Given the description of an element on the screen output the (x, y) to click on. 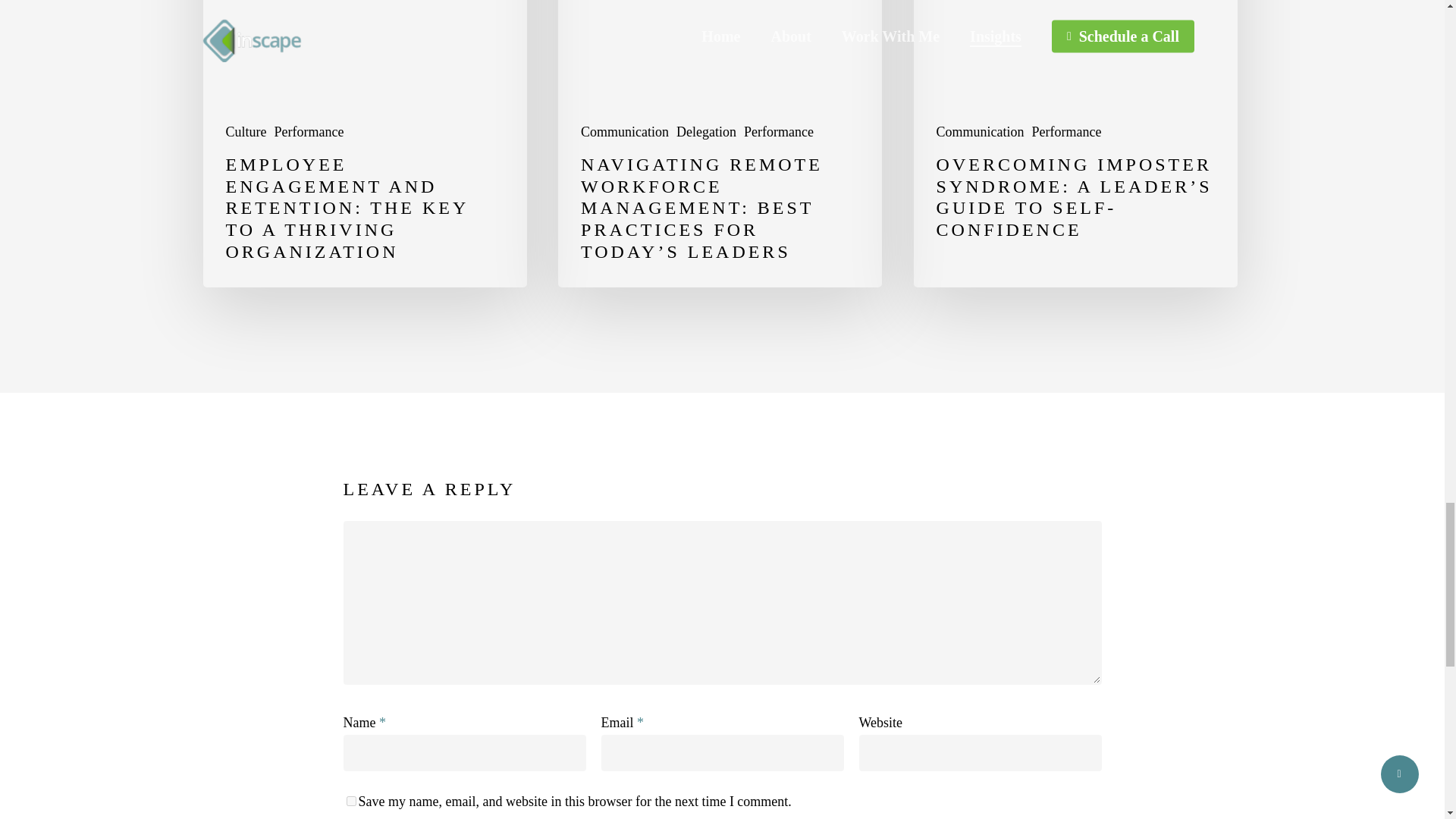
Performance (778, 131)
Communication (980, 131)
Communication (624, 131)
Performance (1067, 131)
Performance (309, 131)
Culture (245, 131)
Delegation (706, 131)
yes (350, 800)
